Given the description of an element on the screen output the (x, y) to click on. 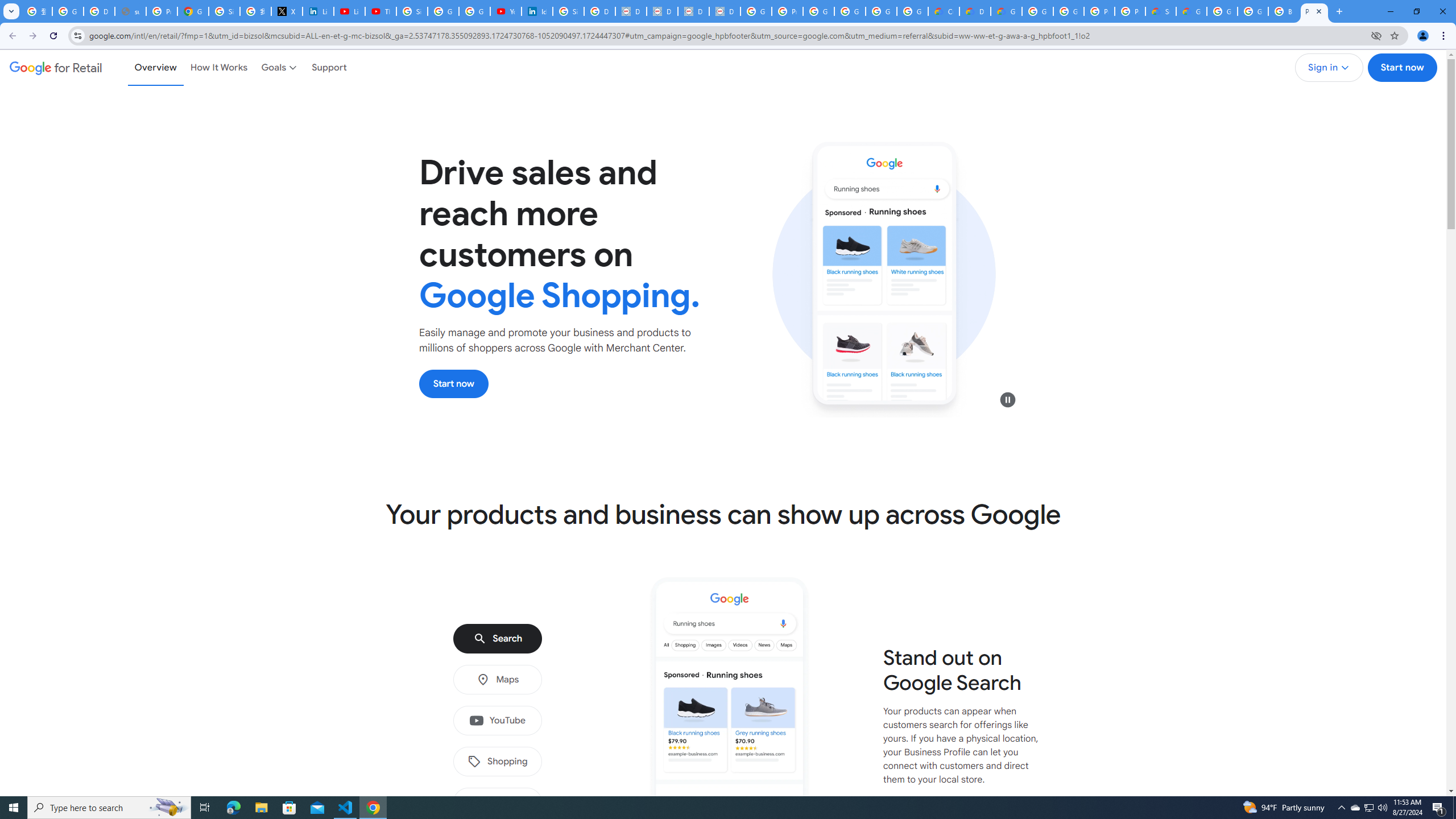
Sign in - Google Accounts (568, 11)
Search (496, 639)
Google Cloud Platform (1068, 11)
Start now (454, 383)
Data Privacy Framework (631, 11)
